Given the description of an element on the screen output the (x, y) to click on. 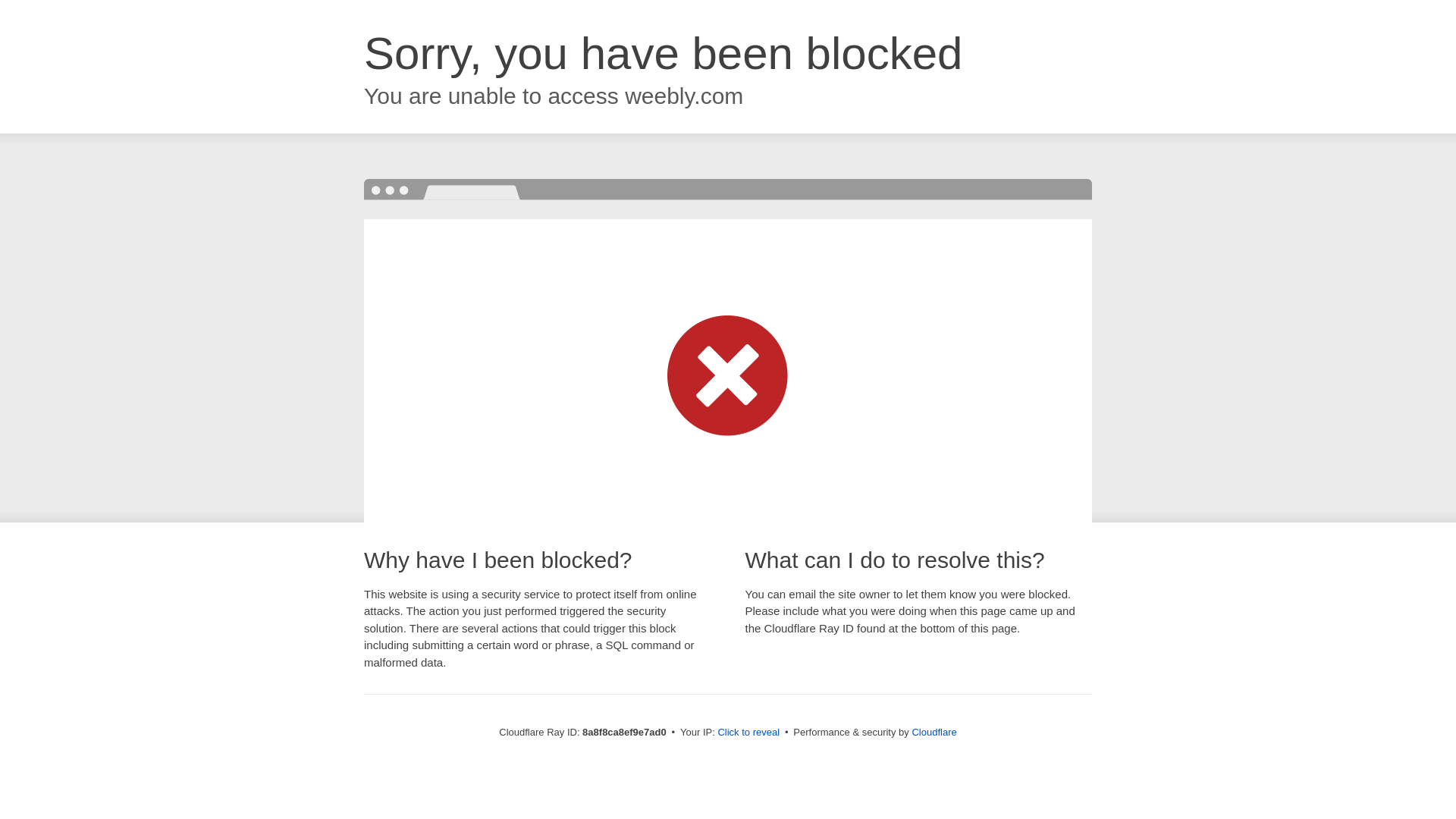
Cloudflare (933, 731)
Click to reveal (747, 732)
